Given the description of an element on the screen output the (x, y) to click on. 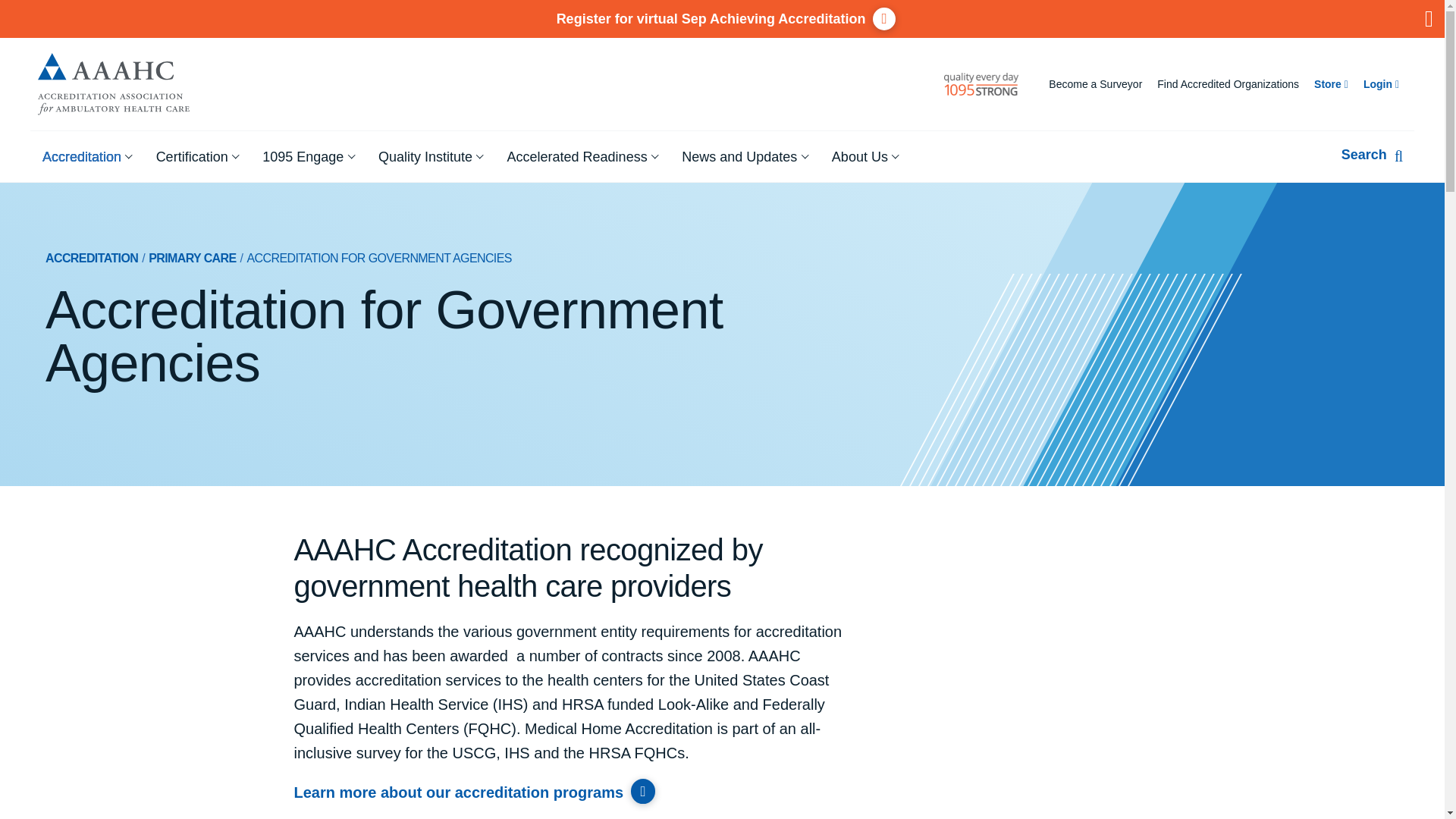
Accreditation (87, 157)
Register for virtual Sep Achieving Accreditation (722, 18)
1095 Engage (308, 157)
Quality Institute (430, 157)
Accelerated Readiness (582, 157)
AAAHC (114, 83)
Certification (197, 157)
